Given the description of an element on the screen output the (x, y) to click on. 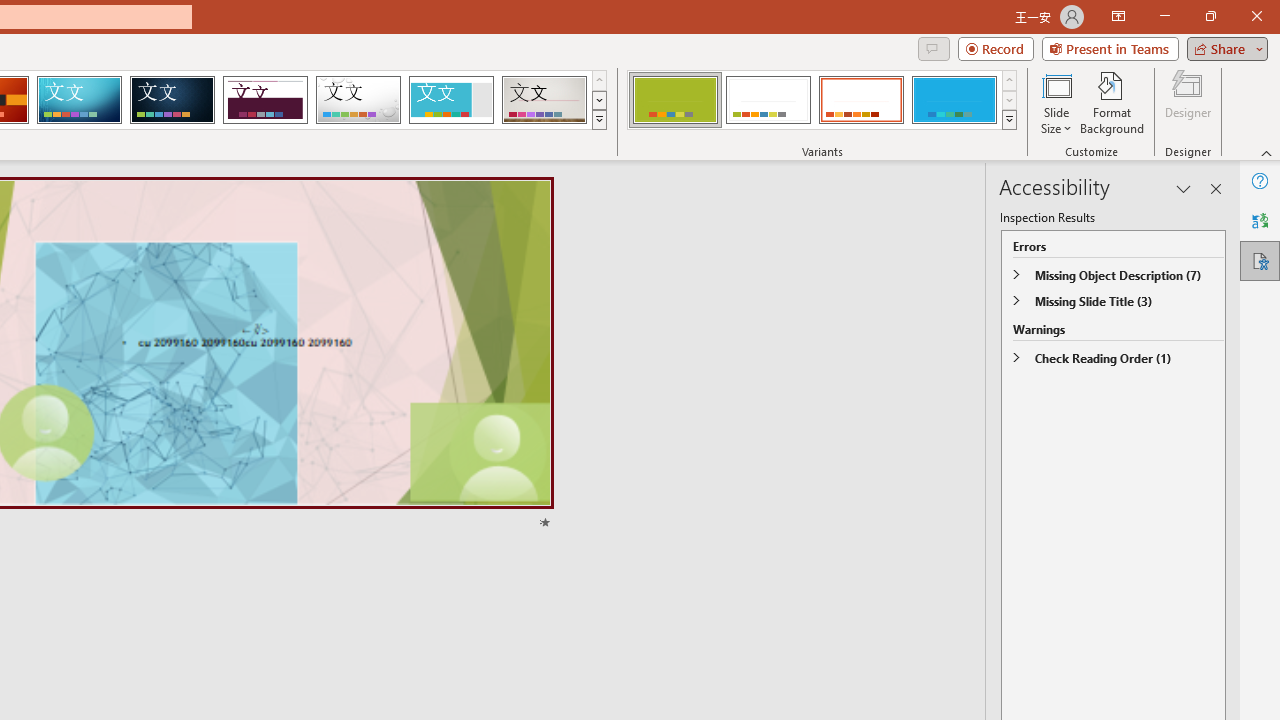
Damask (171, 100)
Dividend (265, 100)
AutomationID: ThemeVariantsGallery (822, 99)
